Given the description of an element on the screen output the (x, y) to click on. 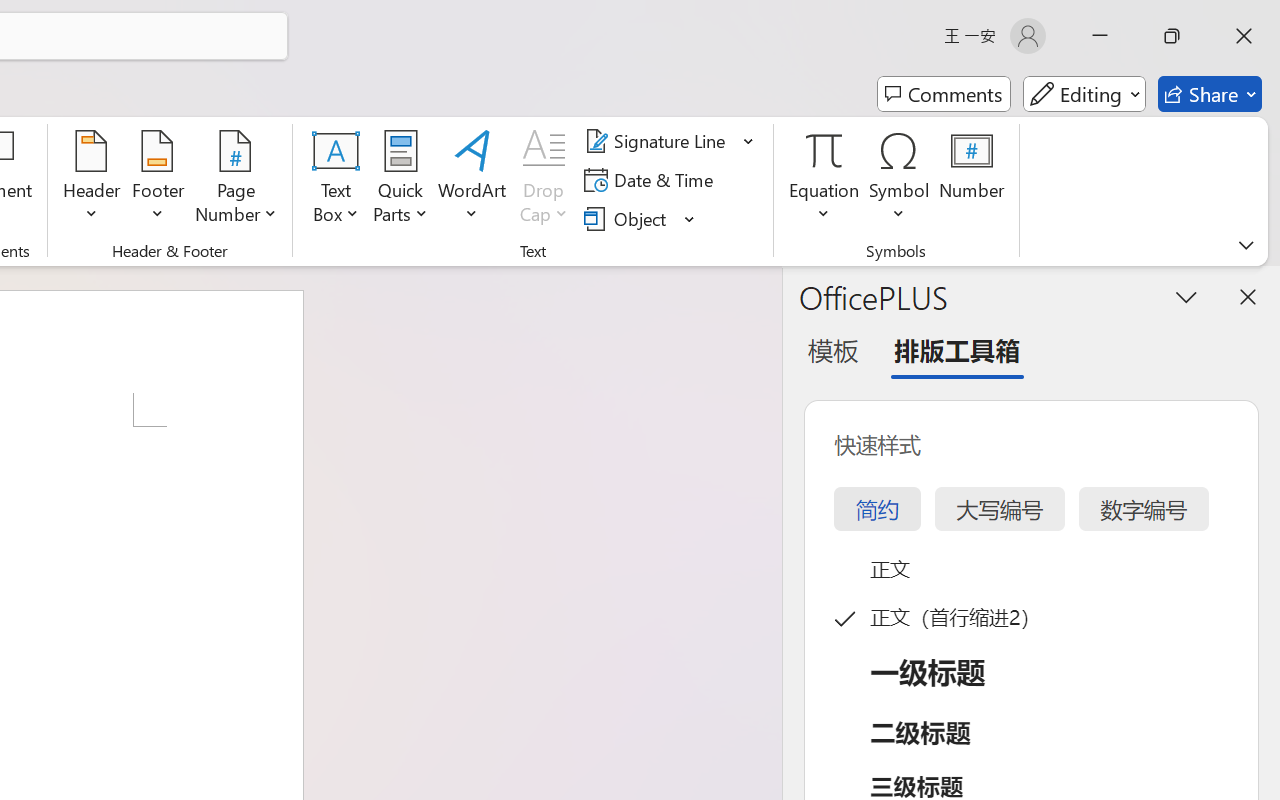
Equation (823, 179)
Number... (971, 179)
Signature Line (669, 141)
Header (92, 179)
Date & Time... (651, 179)
